Given the description of an element on the screen output the (x, y) to click on. 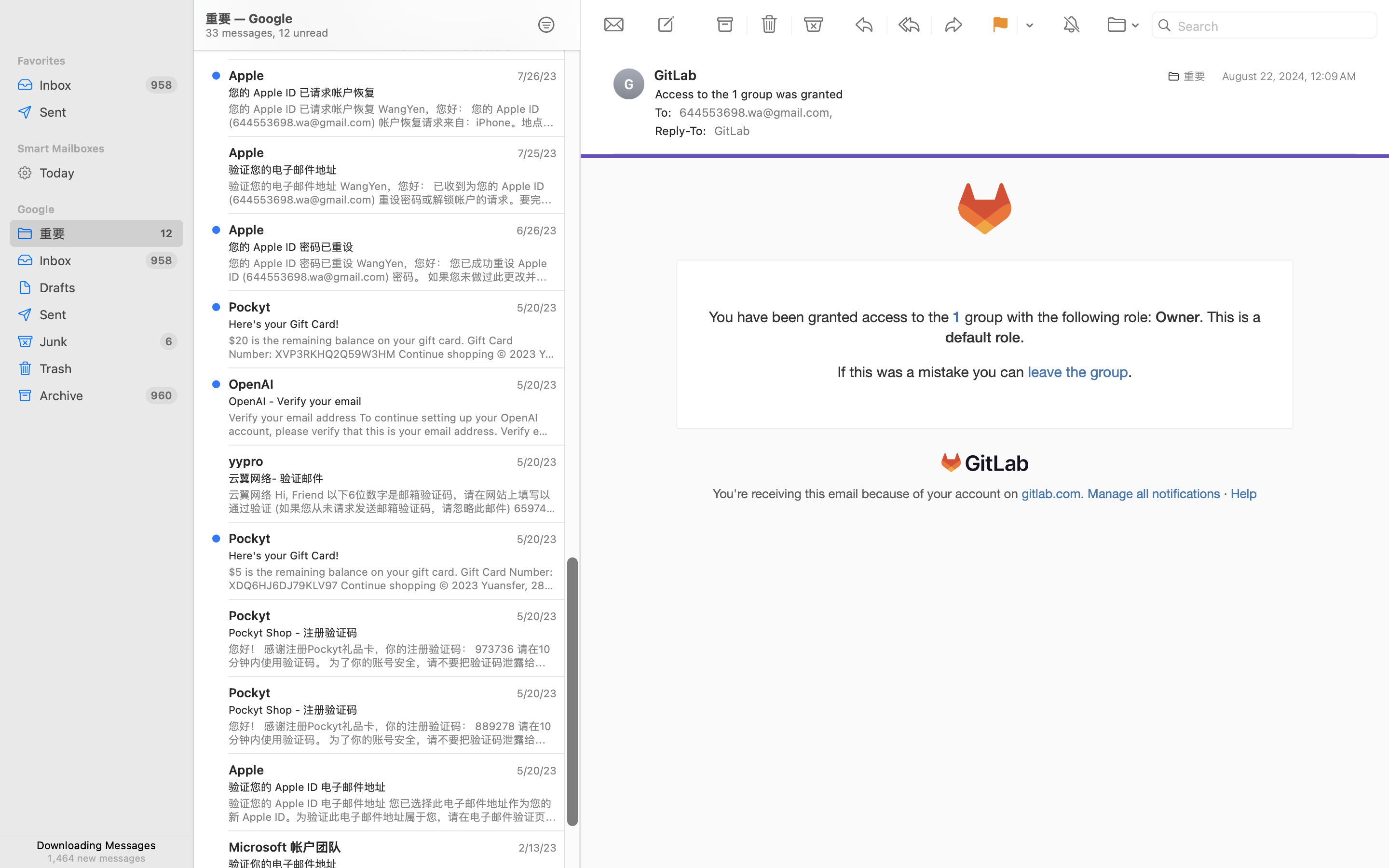
Junk Element type: AXStaticText (95, 341)
Today Element type: AXTextField (107, 172)
Sent Element type: AXStaticText (107, 111)
Apple Element type: AXStaticText (246, 74)
· Element type: AXStaticText (1225, 493)
